Given the description of an element on the screen output the (x, y) to click on. 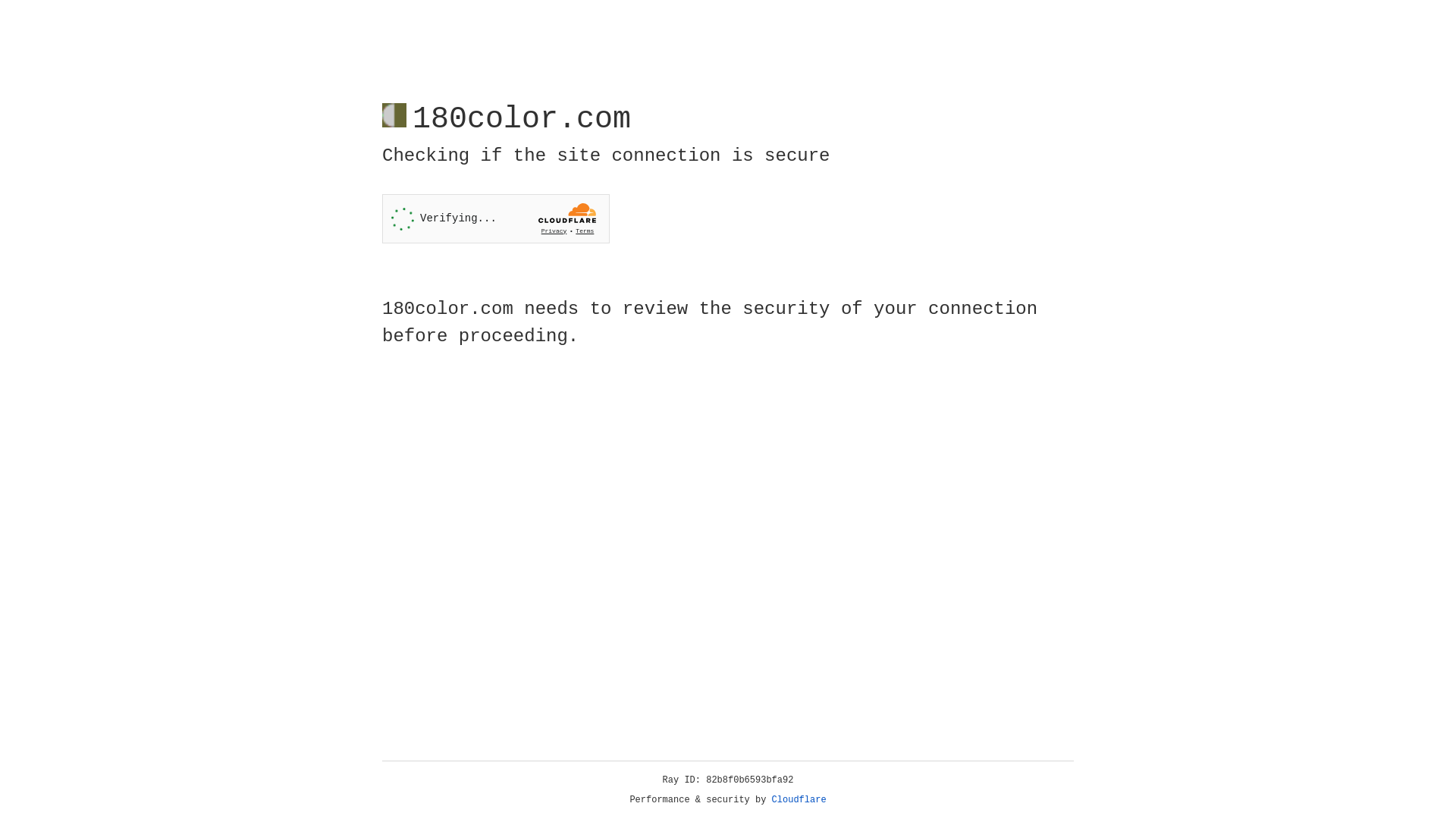
Widget containing a Cloudflare security challenge Element type: hover (495, 218)
Cloudflare Element type: text (798, 799)
